Given the description of an element on the screen output the (x, y) to click on. 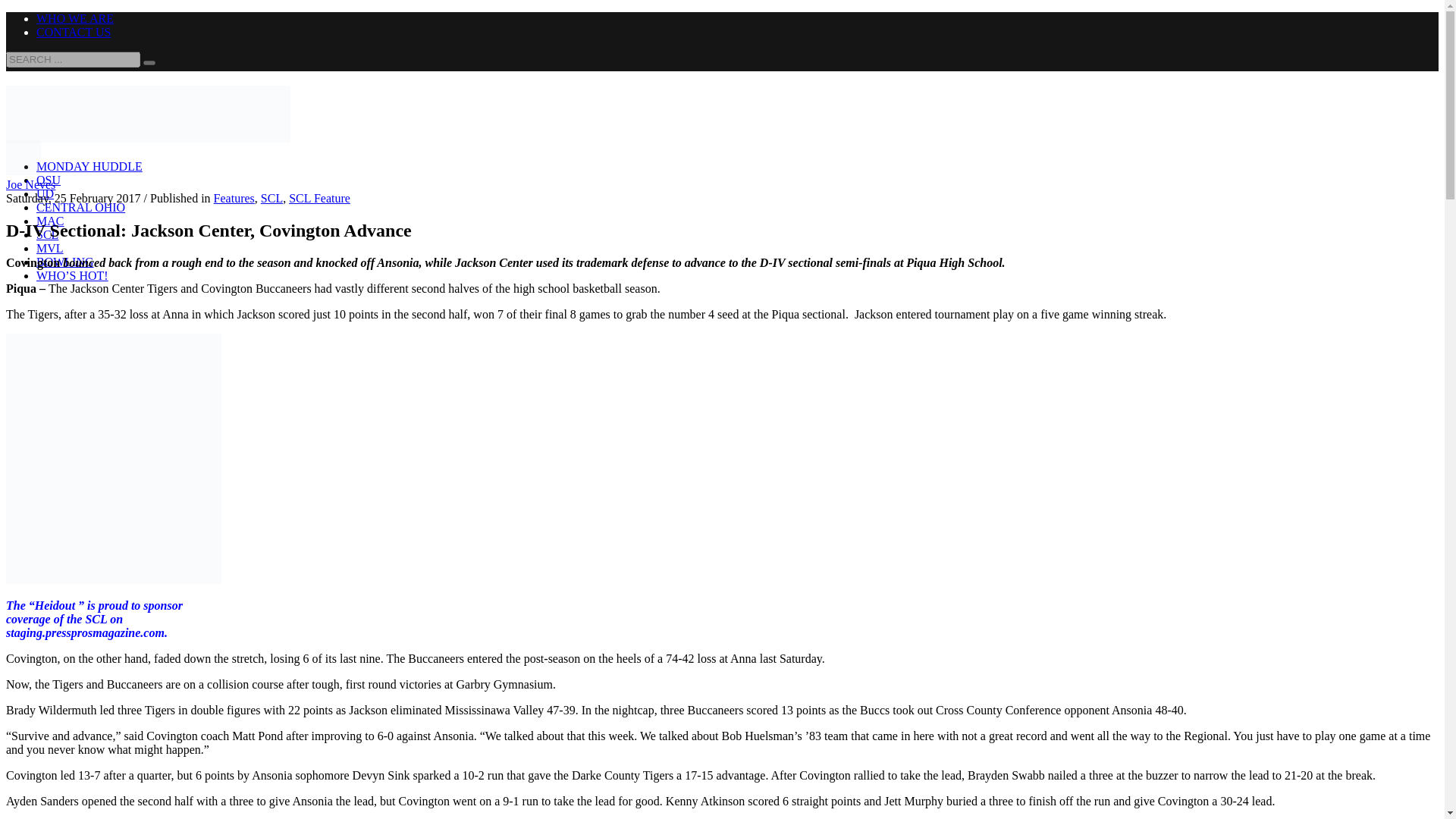
UD (44, 193)
CONTACT US (73, 31)
SCL (47, 234)
go (148, 62)
SCL Feature (319, 197)
WHO WE ARE (74, 18)
SCL (271, 197)
MAC (50, 220)
MONDAY HUDDLE (89, 165)
Joe Neves (30, 184)
